Given the description of an element on the screen output the (x, y) to click on. 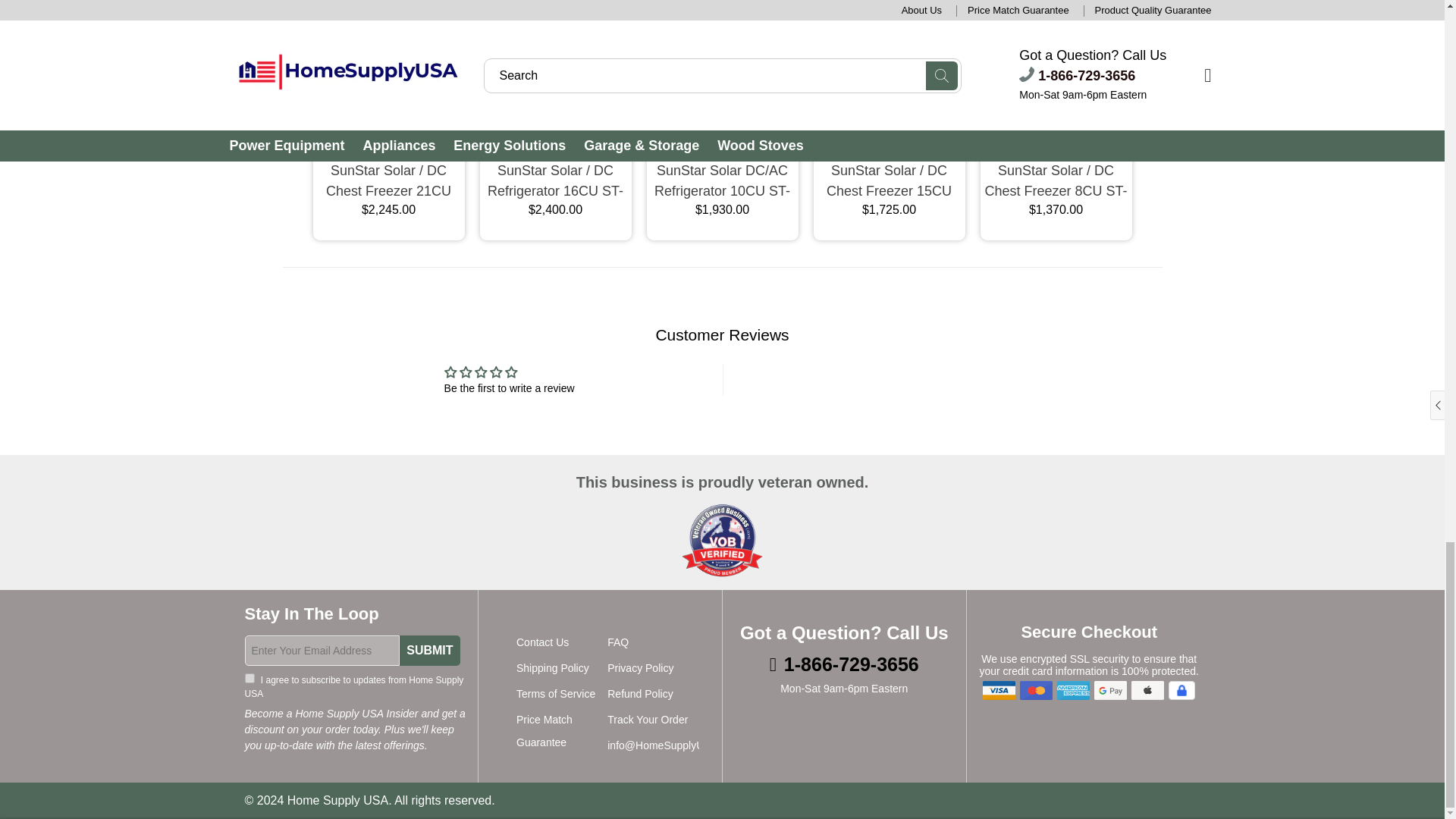
on (248, 678)
